Given the description of an element on the screen output the (x, y) to click on. 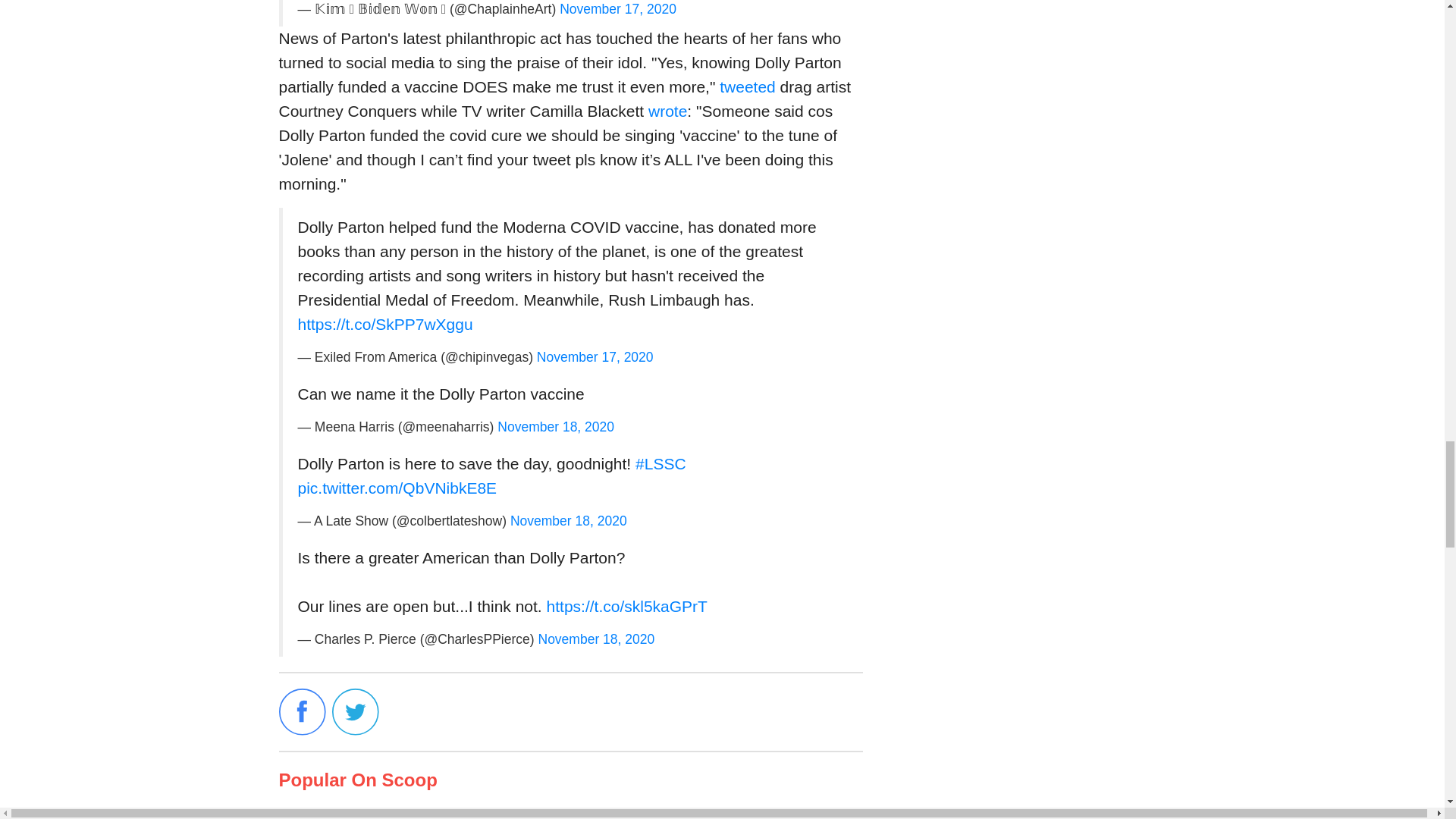
tweeted (747, 86)
November 17, 2020 (618, 8)
